Given the description of an element on the screen output the (x, y) to click on. 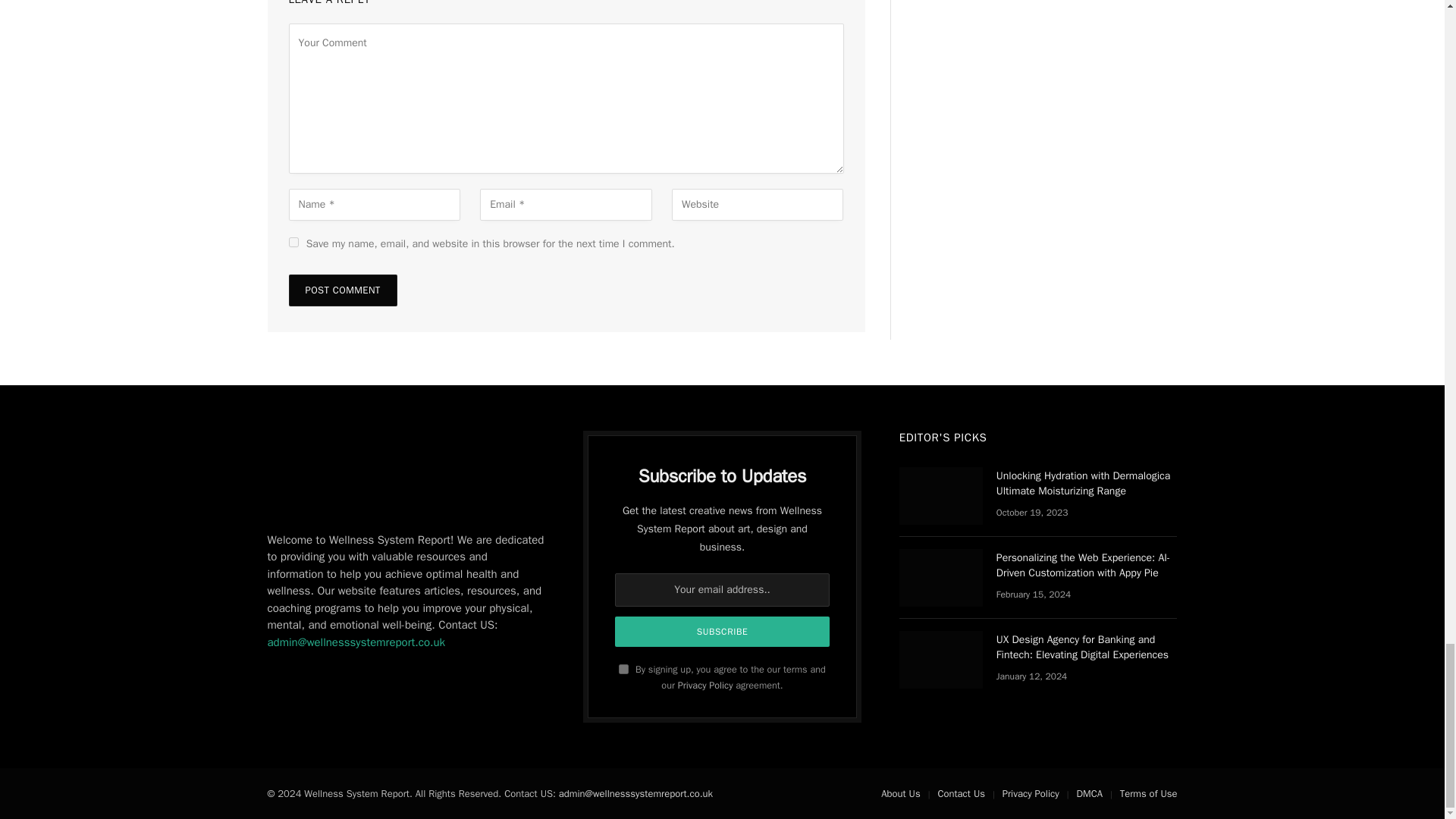
Subscribe (721, 631)
Post Comment (342, 290)
on (623, 669)
yes (293, 242)
